Given the description of an element on the screen output the (x, y) to click on. 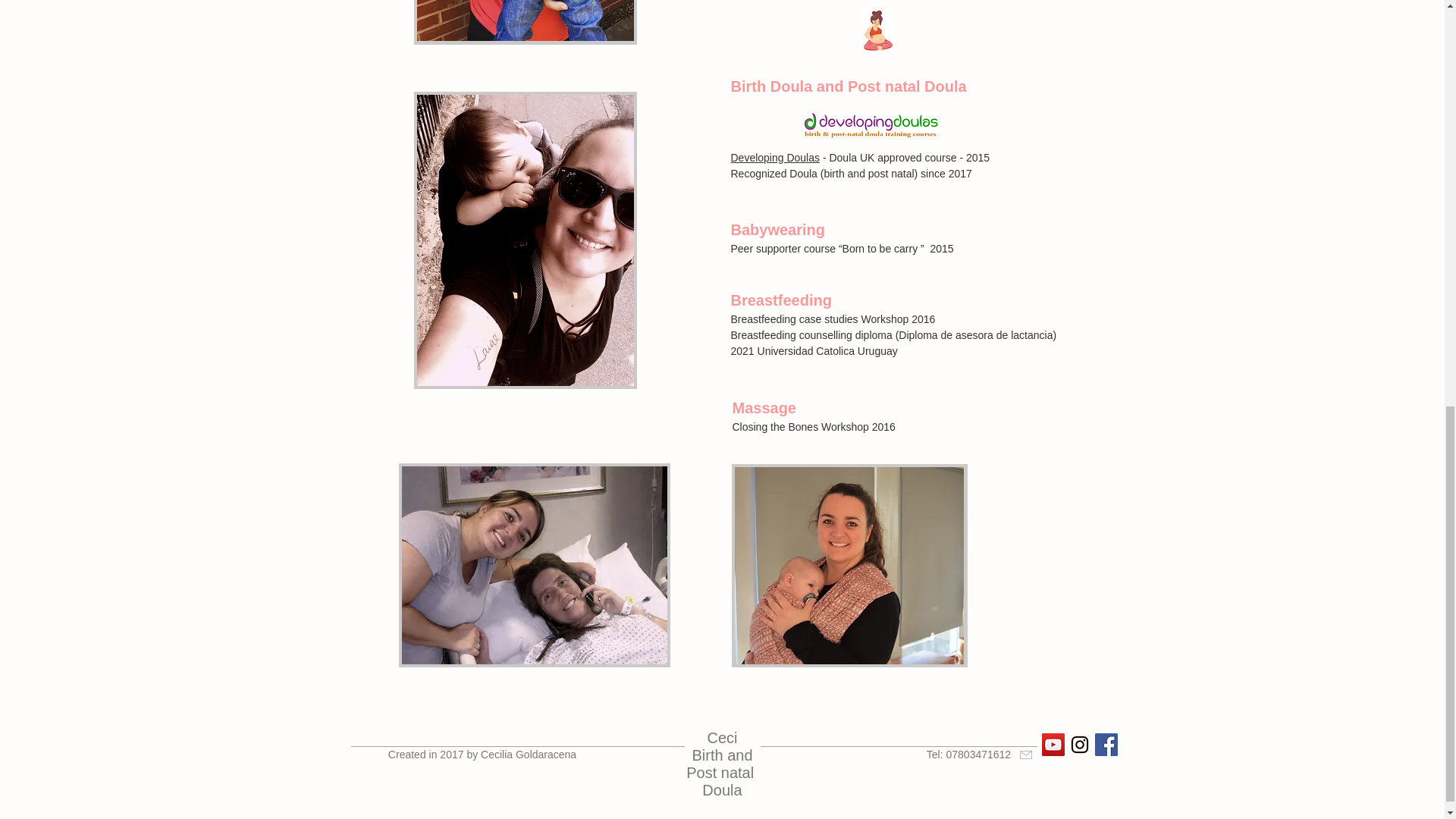
Developing Doulas (775, 157)
